Given the description of an element on the screen output the (x, y) to click on. 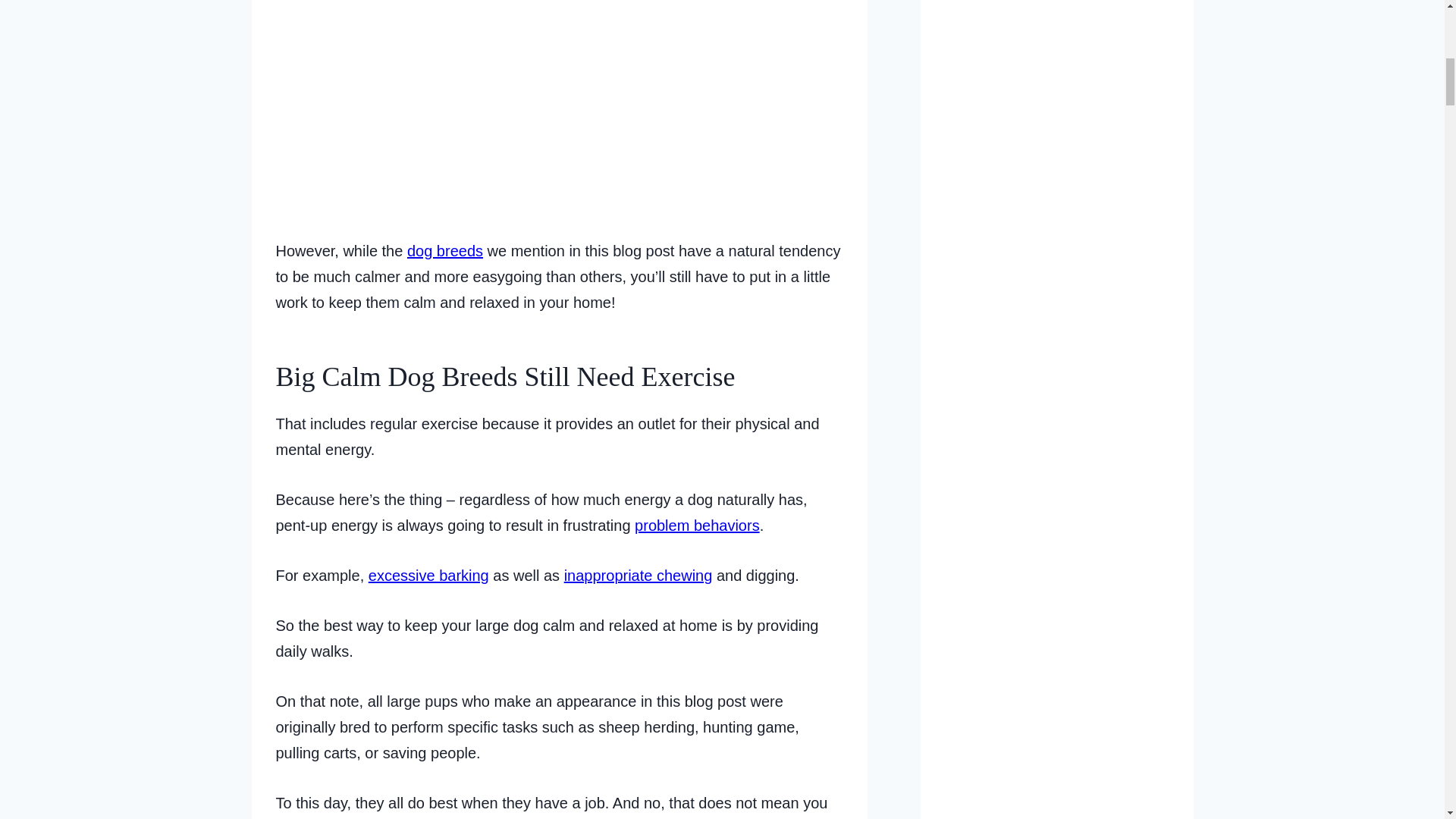
inappropriate chewing (638, 575)
dog breeds (445, 250)
excessive barking (428, 575)
problem behaviors (697, 524)
